Given the description of an element on the screen output the (x, y) to click on. 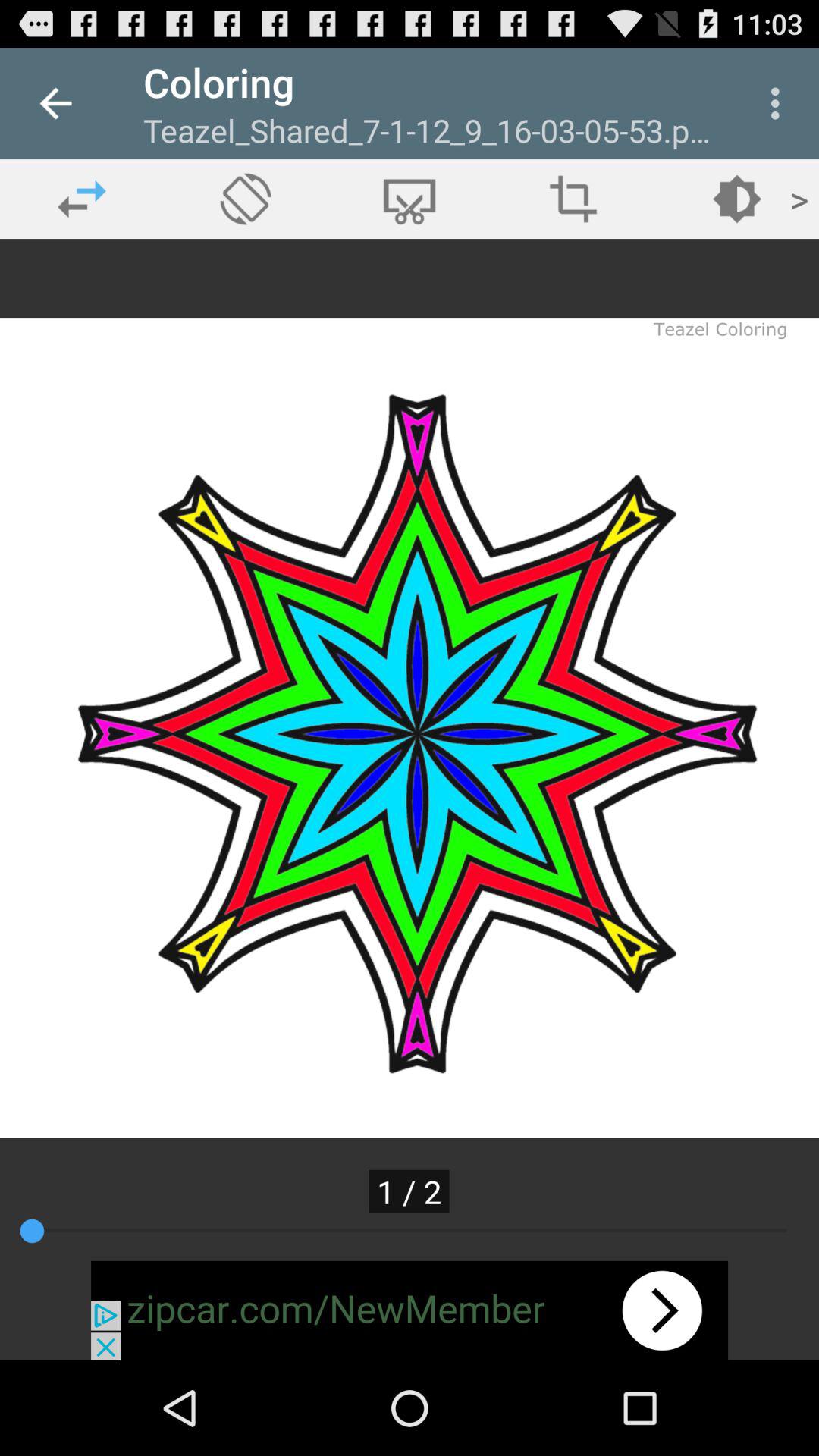
rotate photo (245, 198)
